Given the description of an element on the screen output the (x, y) to click on. 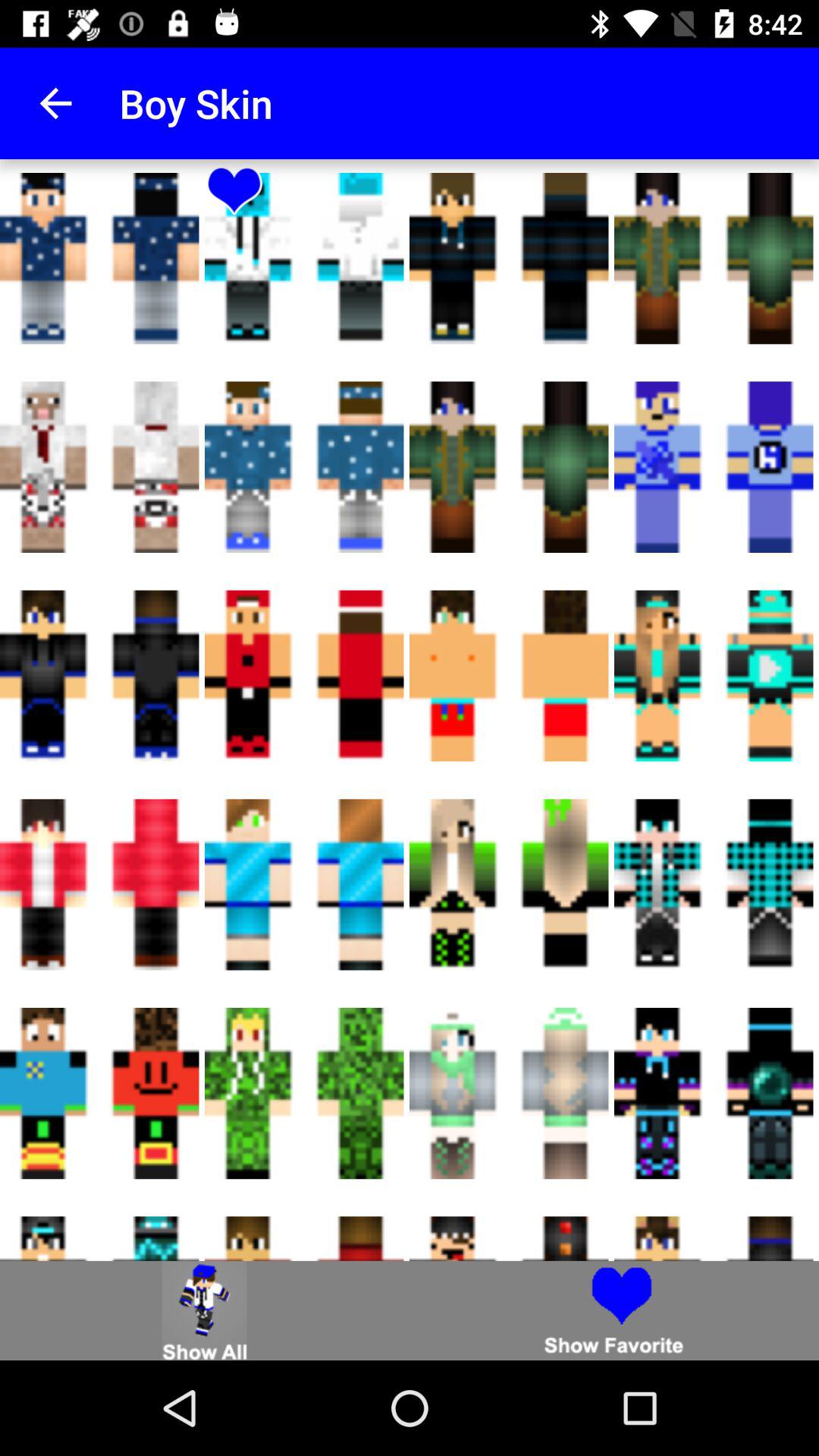
show favorites selected (614, 1310)
